Given the description of an element on the screen output the (x, y) to click on. 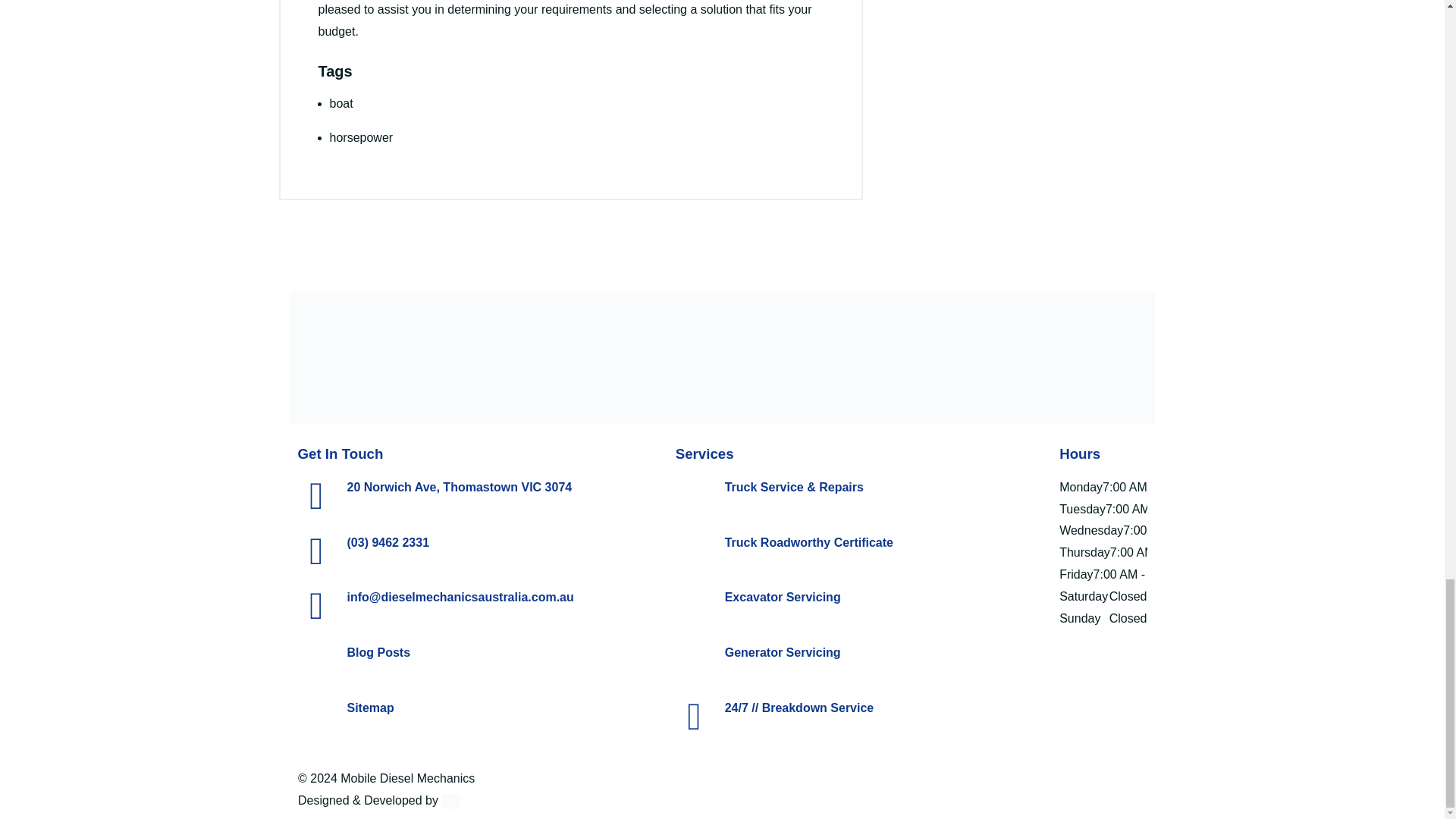
boat (340, 103)
horsepower (361, 137)
